Given the description of an element on the screen output the (x, y) to click on. 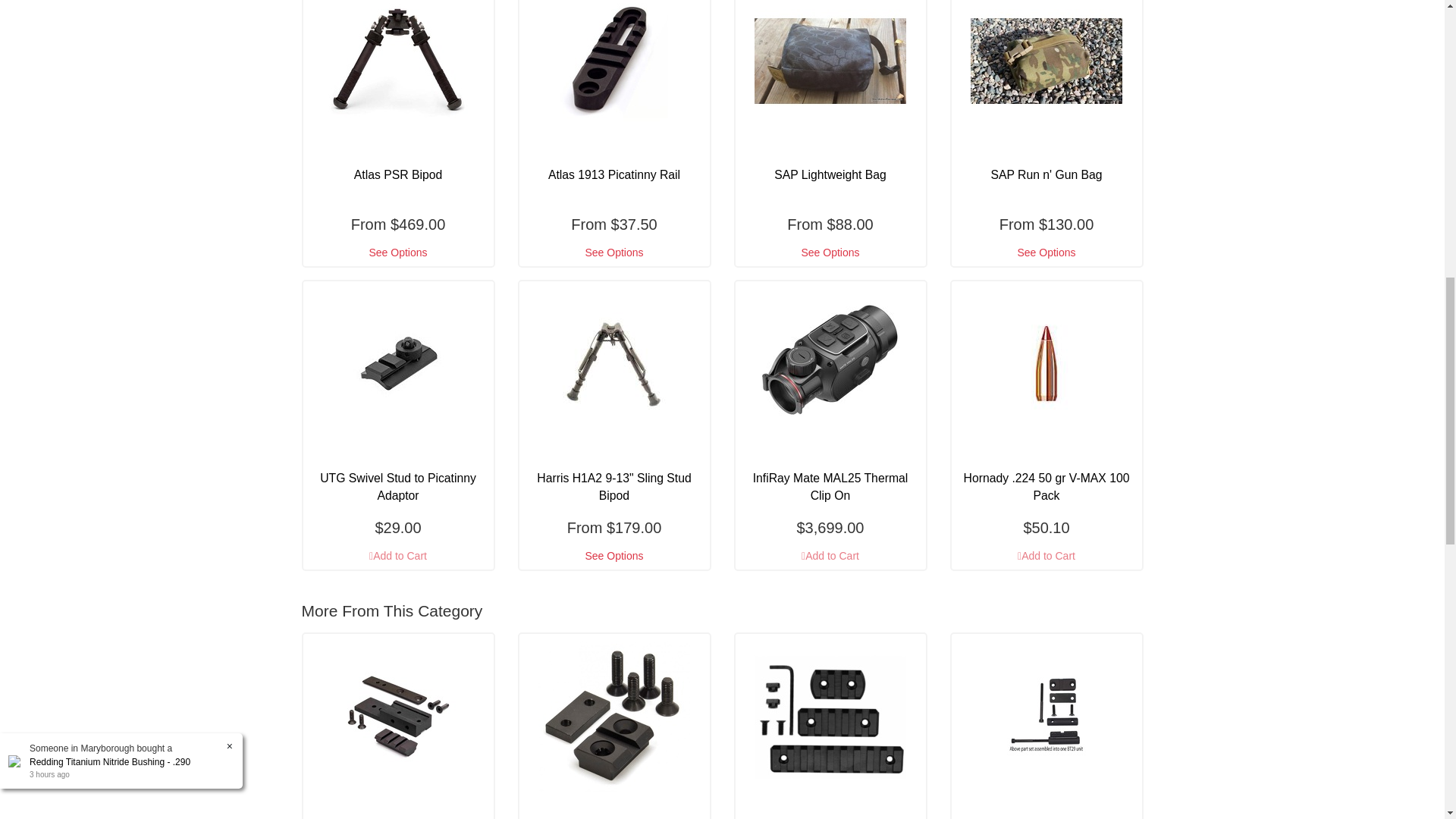
View Atlas PSR Bipod Buying Options (397, 252)
View Harris H1A2 9-13" Sling Stud Bipod Buying Options (613, 555)
Add Hornady .224 50 gr V-MAX 100 Pack to Cart (1045, 555)
View Atlas 1913 Picatinny Rail Buying Options (613, 252)
View SAP Run n' Gun Bag Buying Options (1045, 252)
Add InfiRay Mate MAL25 Thermal Clip On to Cart (830, 555)
View SAP Lightweight Bag Buying Options (830, 252)
Add UTG Swivel Stud to Picatinny Adaptor to Cart (397, 555)
